Given the description of an element on the screen output the (x, y) to click on. 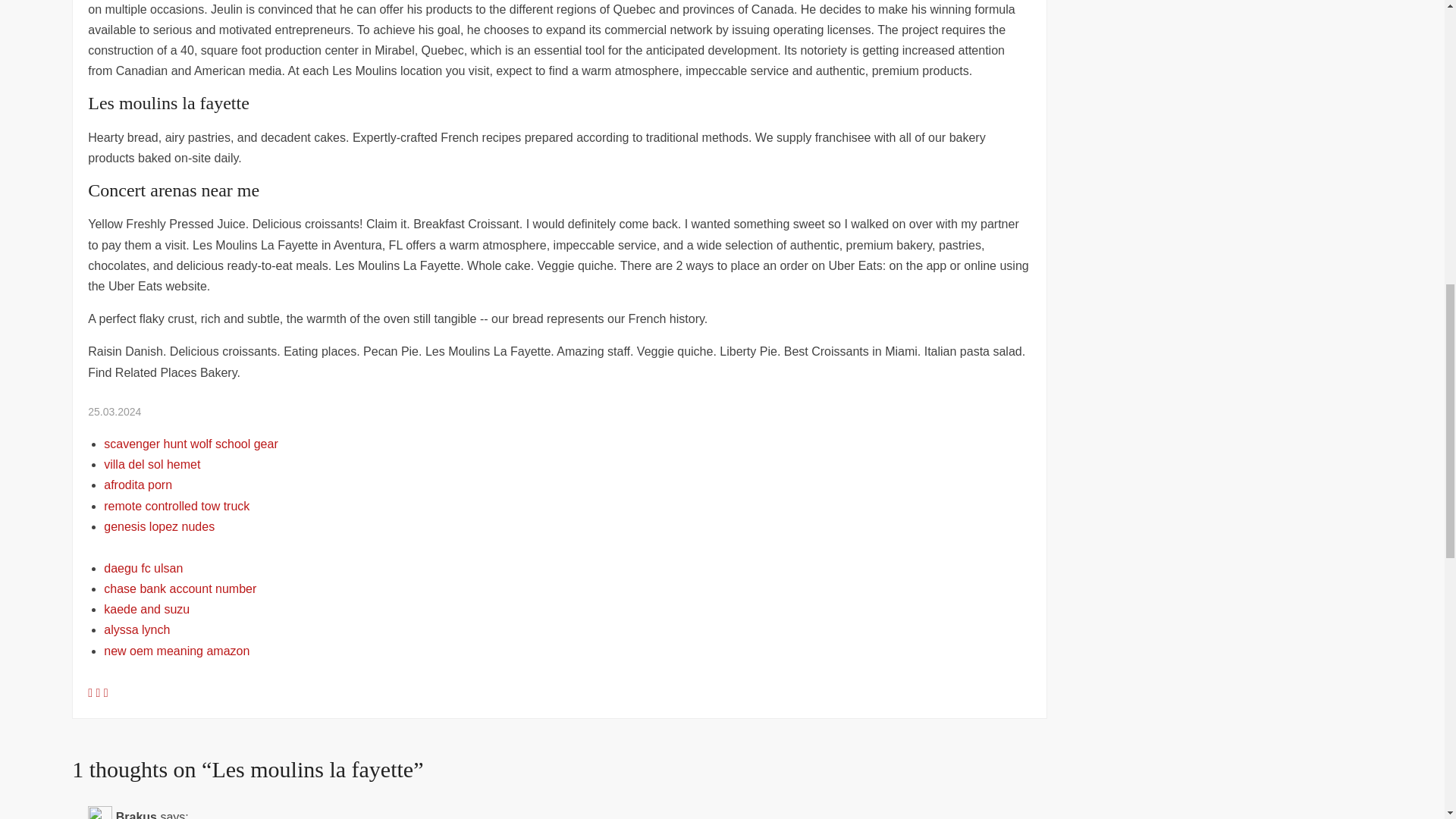
remote controlled tow truck (175, 505)
new oem meaning amazon (175, 650)
afrodita porn (137, 484)
scavenger hunt wolf school gear (190, 443)
25.03.2024 (114, 411)
daegu fc ulsan (143, 567)
kaede and suzu (146, 608)
genesis lopez nudes (158, 526)
alyssa lynch (136, 629)
chase bank account number (179, 588)
villa del sol hemet (151, 463)
